Given the description of an element on the screen output the (x, y) to click on. 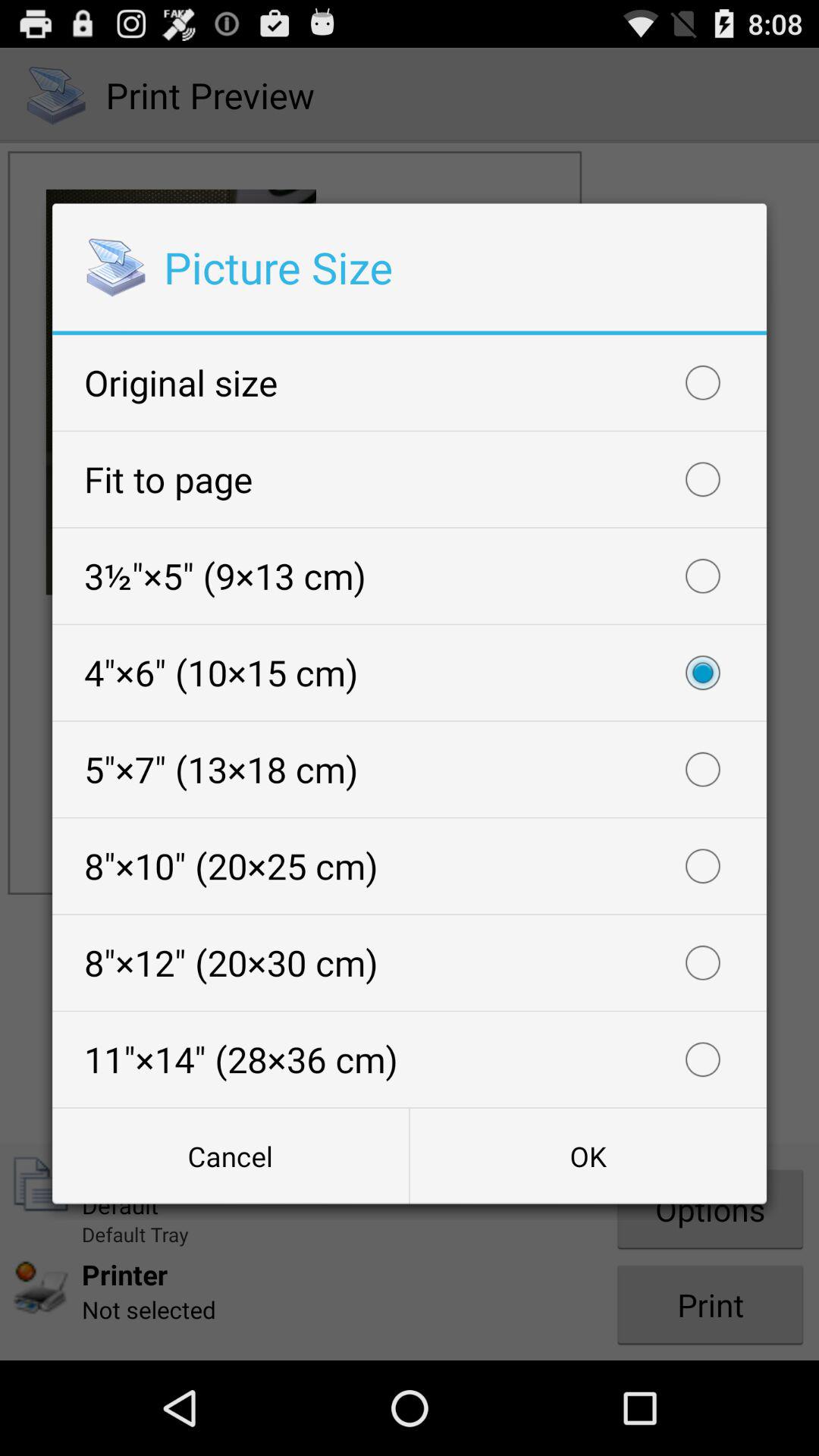
launch button at the bottom left corner (230, 1156)
